Given the description of an element on the screen output the (x, y) to click on. 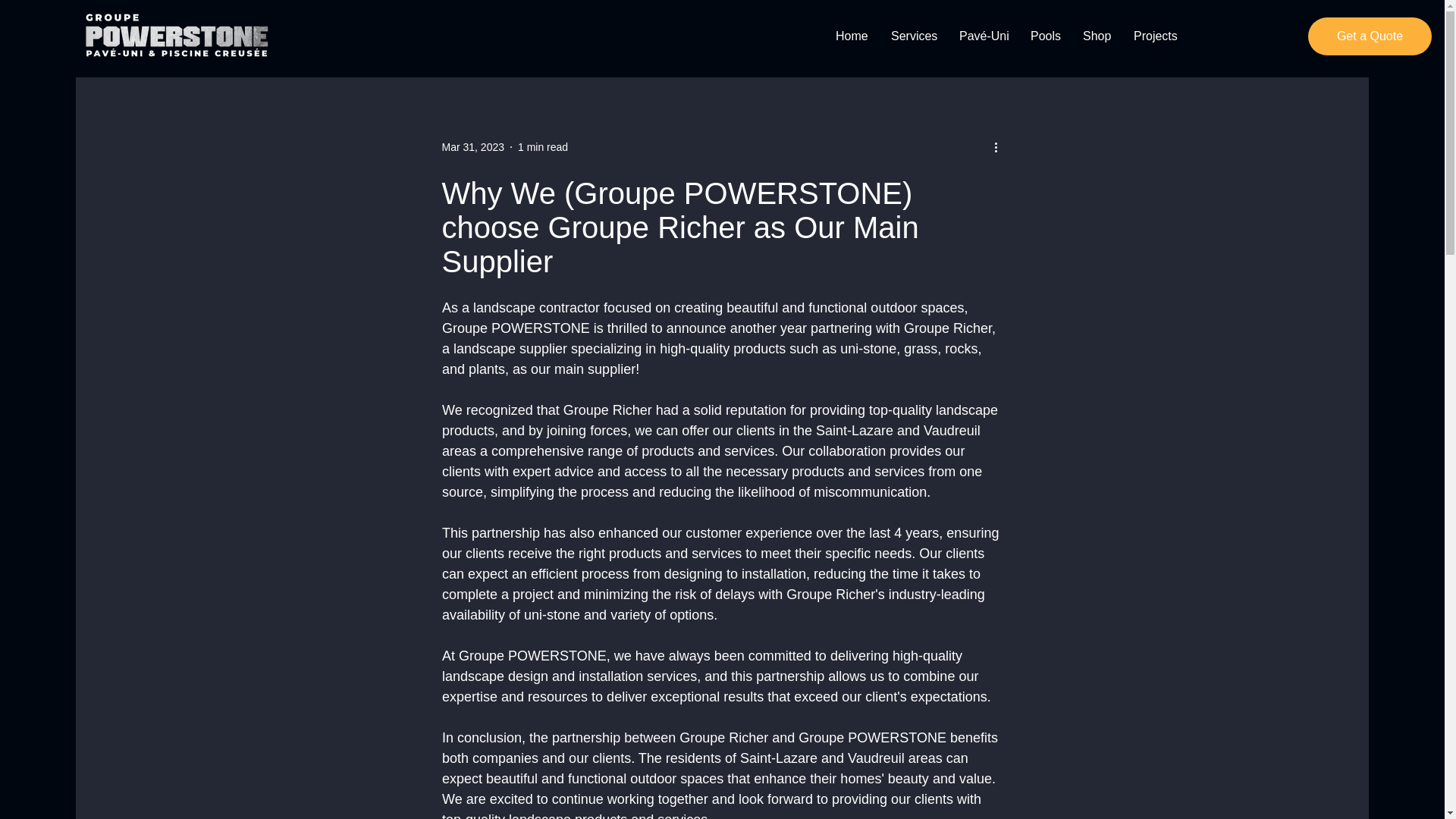
Projects (1154, 36)
Services (913, 36)
Shop (1095, 36)
Home (851, 36)
Get a Quote (1369, 36)
1 min read (542, 146)
Pools (1043, 36)
Mar 31, 2023 (472, 146)
